Given the description of an element on the screen output the (x, y) to click on. 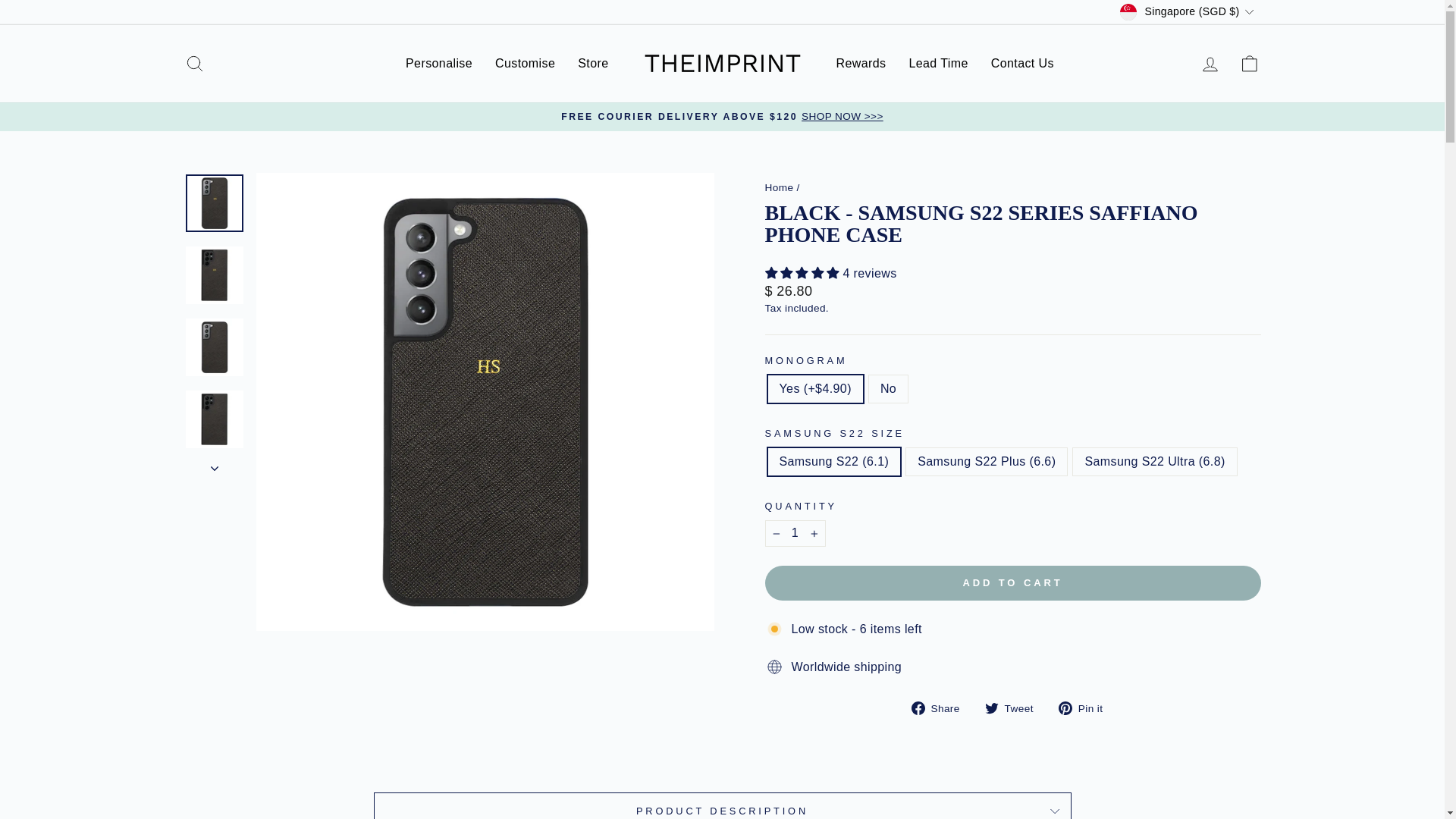
Back to the frontpage (778, 187)
Share on Facebook (941, 707)
Tweet on Twitter (1015, 707)
1 (794, 533)
Pin on Pinterest (1085, 707)
